Given the description of an element on the screen output the (x, y) to click on. 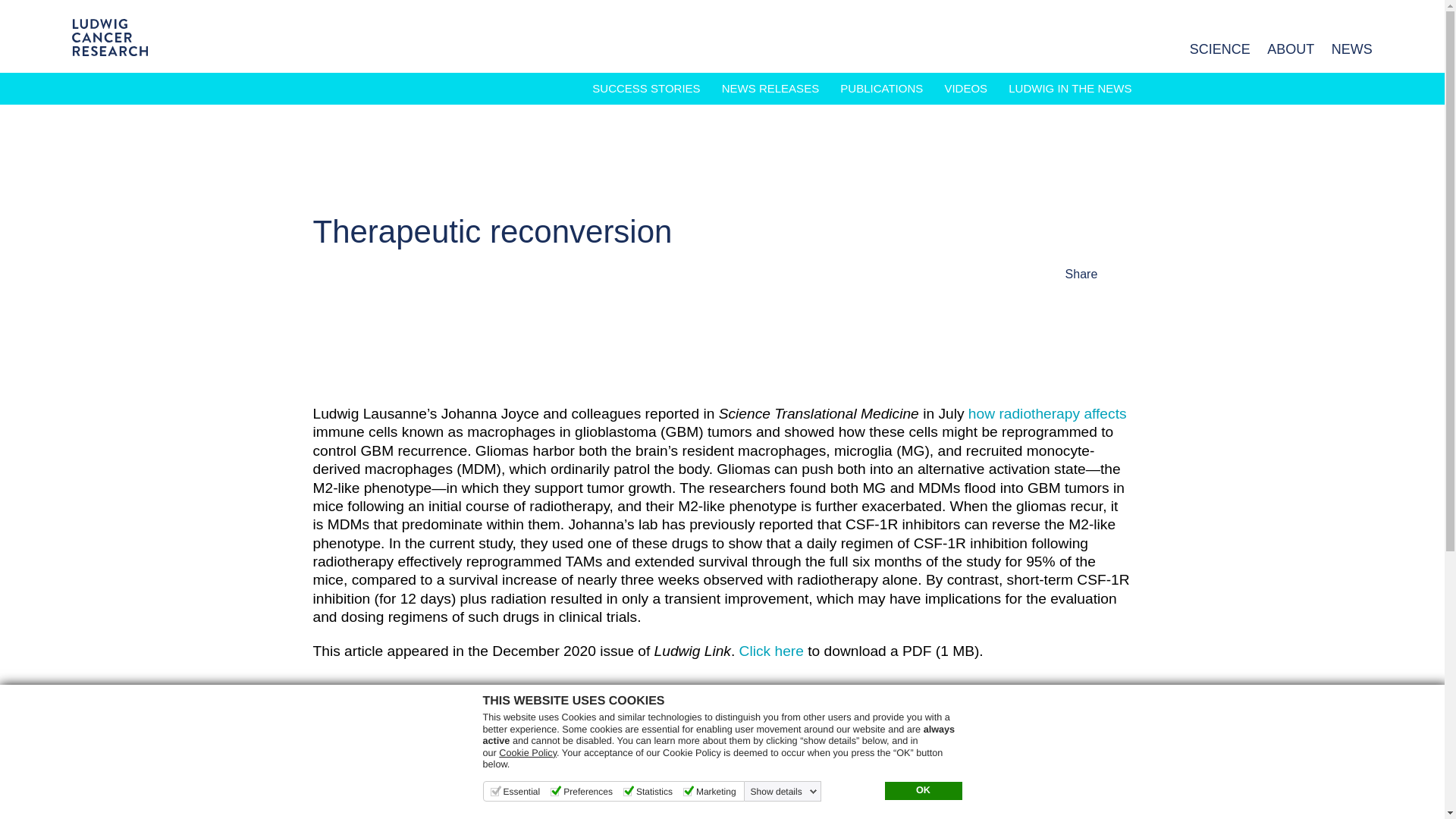
Cookie Policy (527, 752)
Cookie Policy (527, 752)
OK (921, 791)
Show details (784, 791)
